Given the description of an element on the screen output the (x, y) to click on. 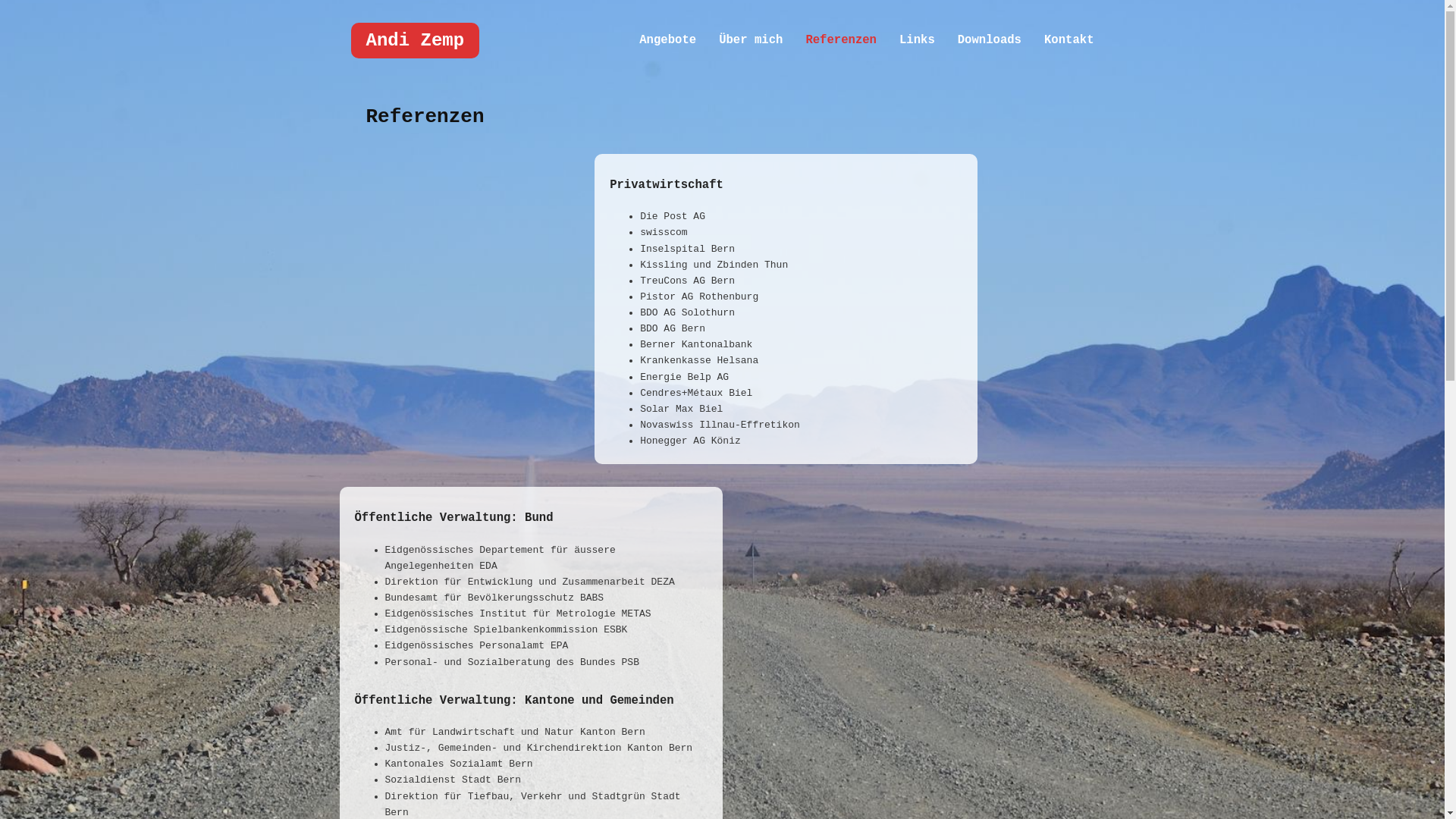
Referenzen Element type: text (840, 40)
Links Element type: text (917, 40)
Downloads Element type: text (989, 40)
Kontakt Element type: text (1068, 40)
Andi Zemp Element type: text (414, 40)
Angebote Element type: text (667, 40)
